Given the description of an element on the screen output the (x, y) to click on. 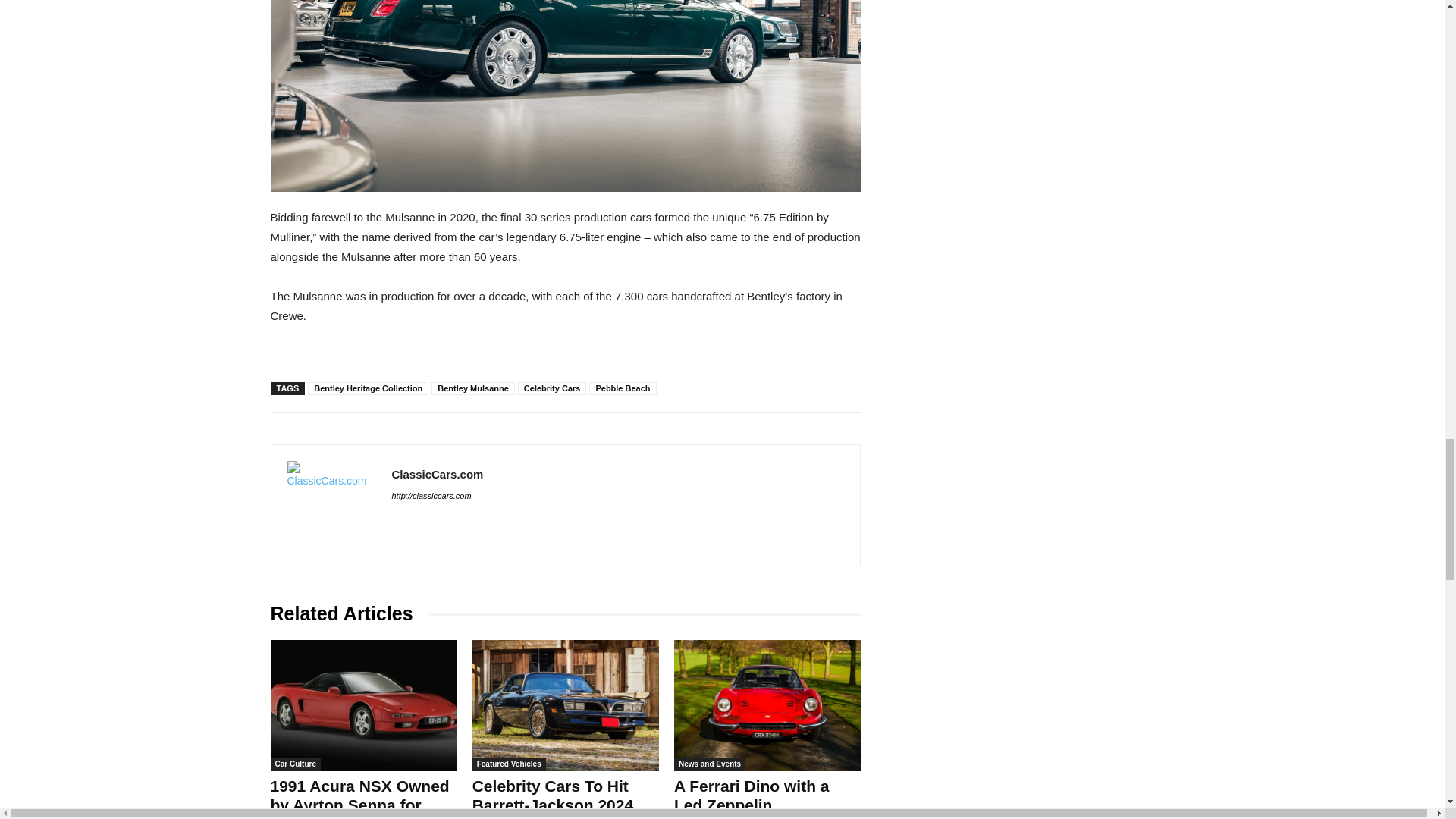
1991 Acura NSX Owned by Ayrton Senna for Sale (363, 704)
Bentley Heritage Collection (367, 388)
ClassicCars.com (330, 505)
Celebrity Cars To Hit Barrett-Jackson 2024 Palm Beach (565, 704)
1991 Acura NSX Owned by Ayrton Senna for Sale (358, 798)
